Given the description of an element on the screen output the (x, y) to click on. 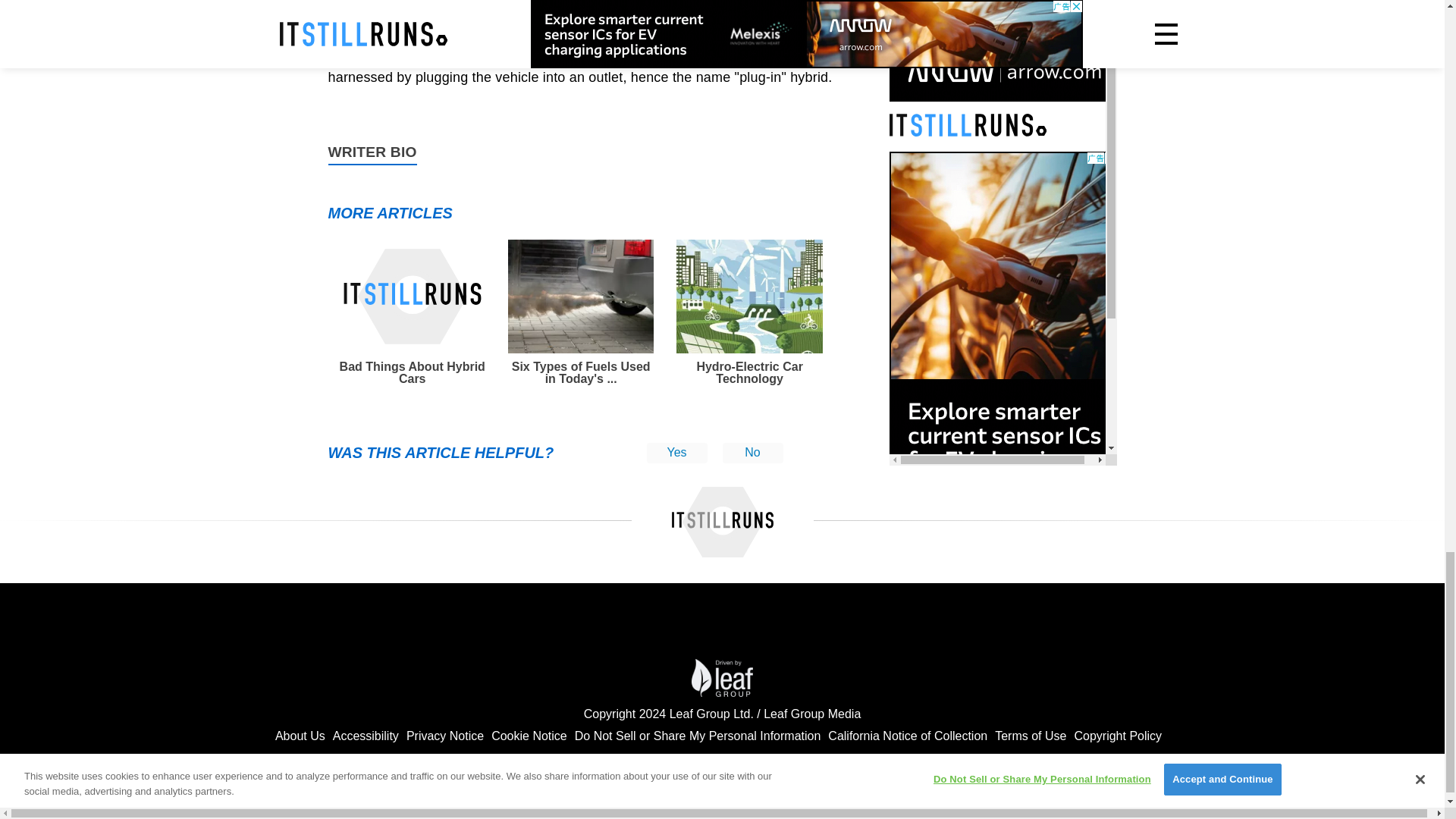
Cookie Notice (529, 735)
California Notice of Collection (907, 735)
Yes (676, 452)
Copyright Policy (1117, 735)
privacy-policy (529, 735)
terms-of-use (1029, 735)
About Us (299, 735)
No (752, 452)
Hydro-Electric Car Technology (749, 311)
privacy-policy (444, 735)
Bad Things About Hybrid Cars (411, 311)
copyright-policy (1117, 735)
Do Not Sell or Share My Personal Information (698, 735)
Terms of Use (1029, 735)
privacy-policy (907, 735)
